Given the description of an element on the screen output the (x, y) to click on. 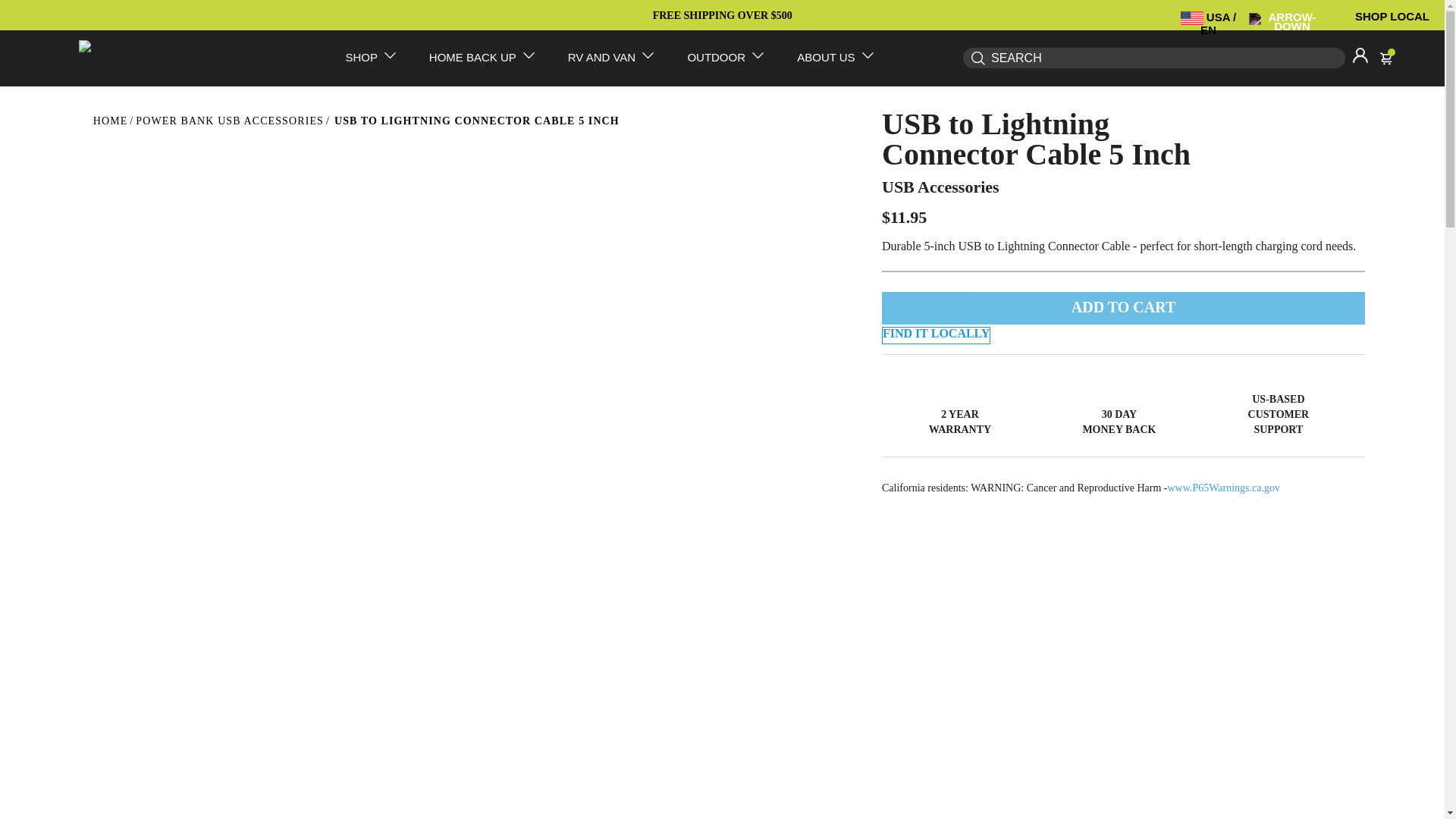
SHOP LOCAL (1392, 15)
Home (110, 119)
